Given the description of an element on the screen output the (x, y) to click on. 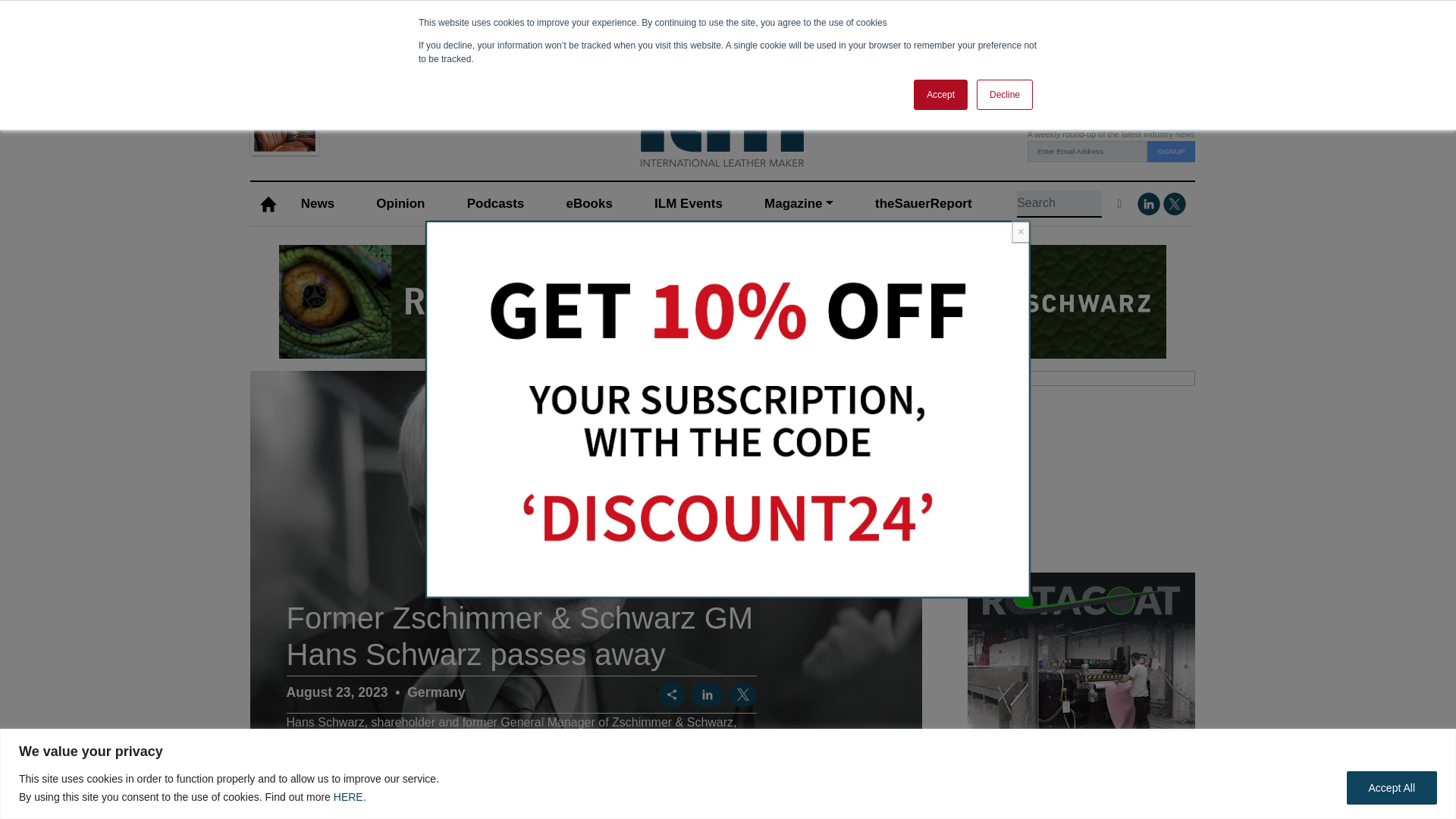
theSauerReport (922, 204)
Accept All (1391, 786)
SUBSCRIBE (369, 111)
Podcasts (494, 204)
ILM Events (688, 204)
Accept (941, 94)
Decline (1004, 94)
Opinion (400, 204)
SIGNUP (1171, 151)
